Given the description of an element on the screen output the (x, y) to click on. 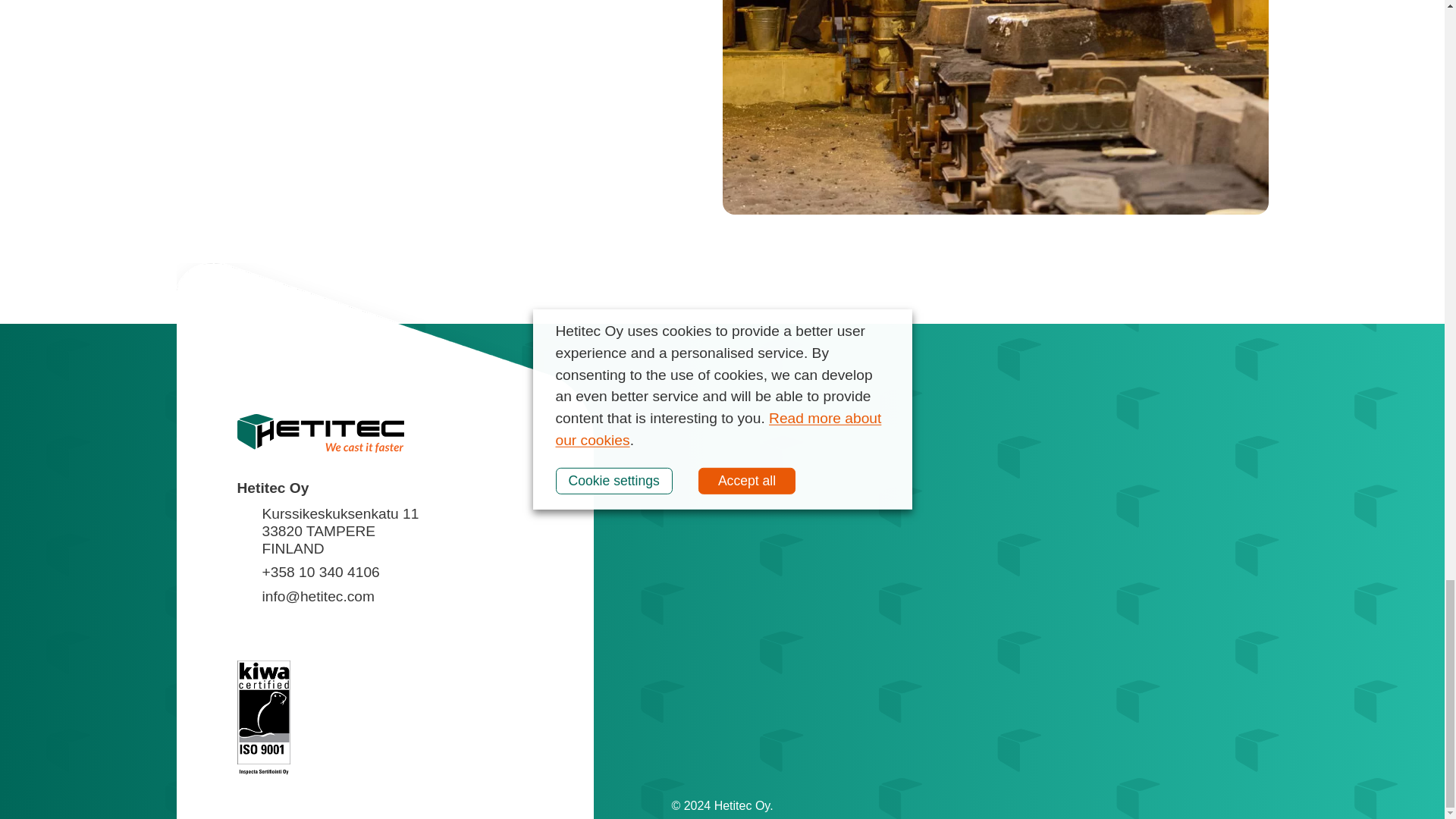
LinkedIn (247, 629)
